Given the description of an element on the screen output the (x, y) to click on. 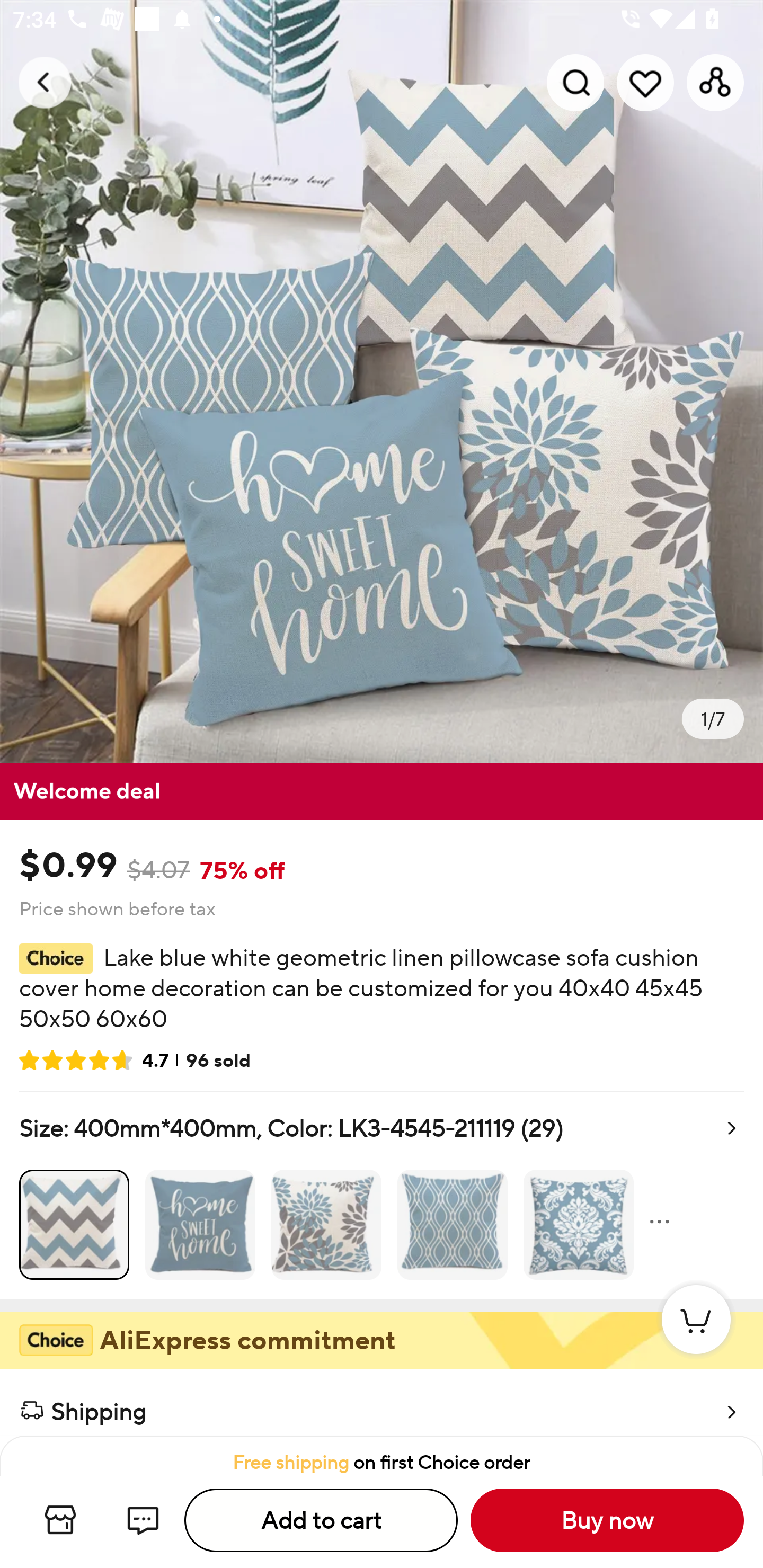
Navigate up (44, 82)
Size: 400mm*400mm, Color: LK3-4545-211119 (29)  (381, 1194)
Shipping  (381, 1402)
Add to cart (320, 1520)
Buy now (606, 1520)
